Given the description of an element on the screen output the (x, y) to click on. 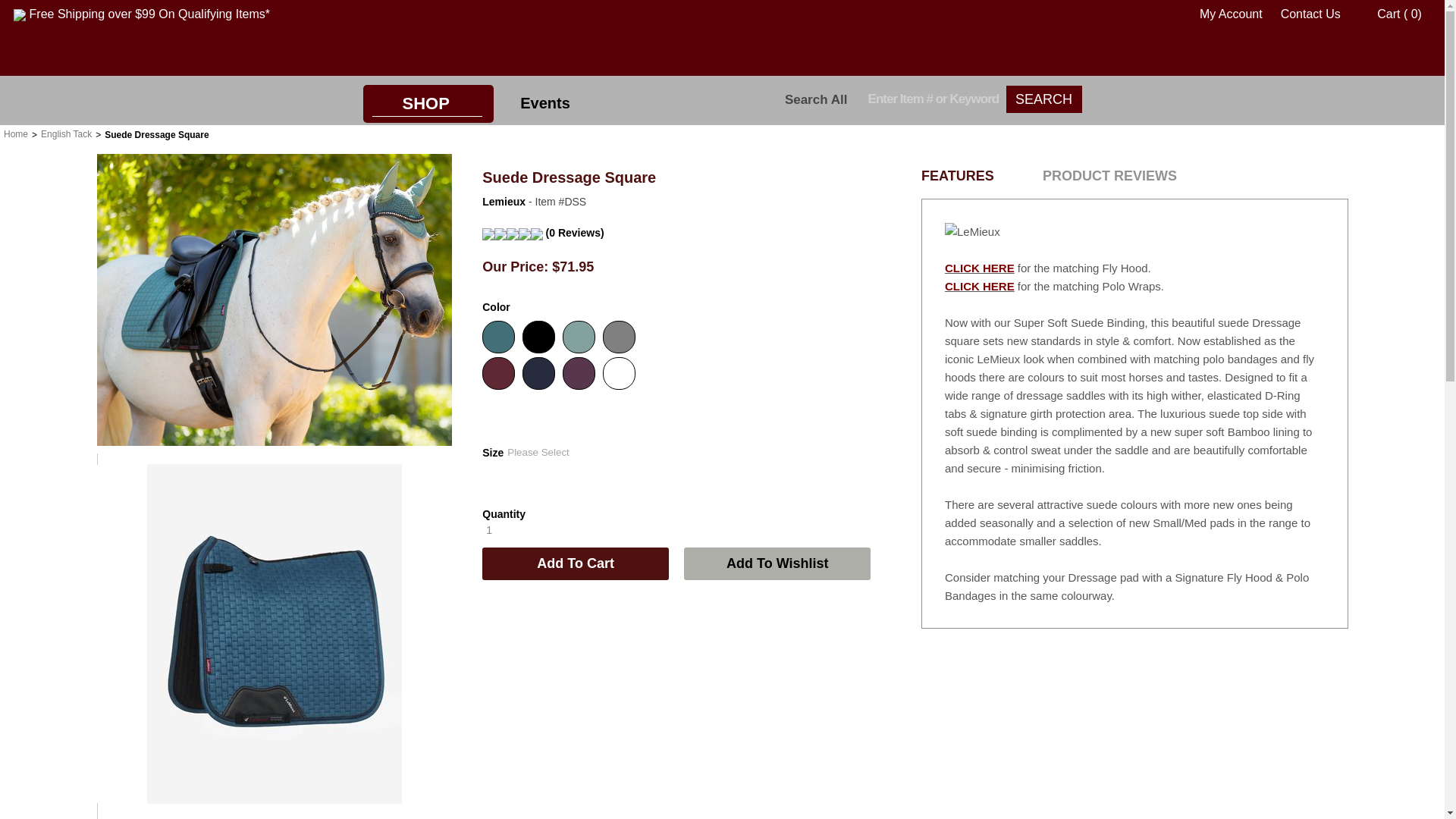
MULBERRY (498, 373)
Shop English Tack products (65, 133)
Home (15, 133)
Contact Us (1310, 13)
WHITE (618, 373)
Home (15, 133)
My Account (1224, 13)
Lemieux (504, 201)
Add To Wishlist (777, 563)
PLUM (578, 373)
